Given the description of an element on the screen output the (x, y) to click on. 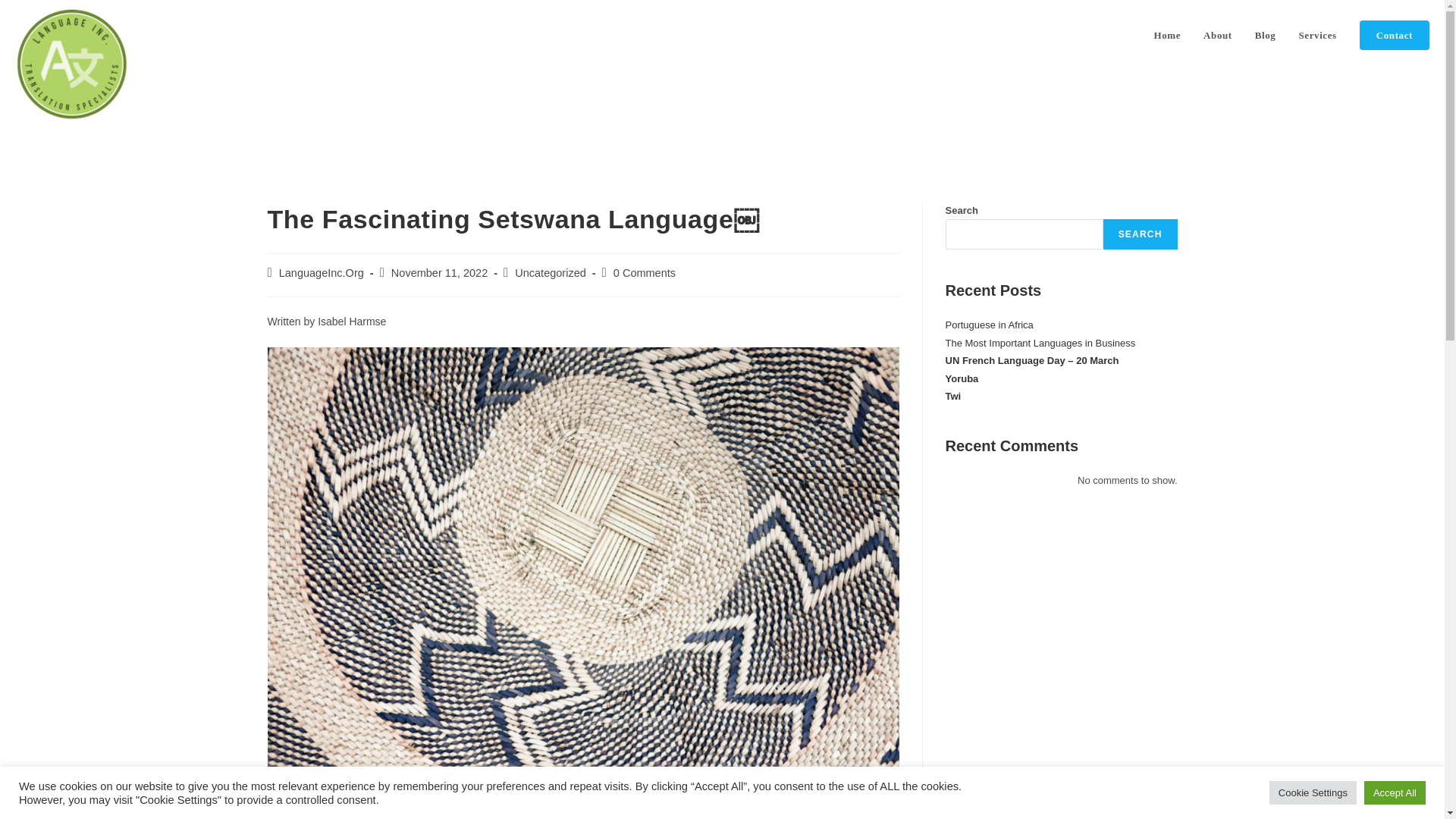
Cookie Settings (1312, 792)
Yoruba (961, 378)
About (1217, 35)
Services (1317, 35)
0 Comments (643, 272)
Contact (1394, 35)
Accept All (1394, 792)
LanguageInc.Org (321, 272)
The Most Important Languages in Business (1039, 342)
Twi (952, 396)
Home (1166, 35)
Portuguese in Africa (988, 324)
Uncategorized (550, 272)
SEARCH (1140, 234)
Posts by LanguageInc.Org (321, 272)
